Given the description of an element on the screen output the (x, y) to click on. 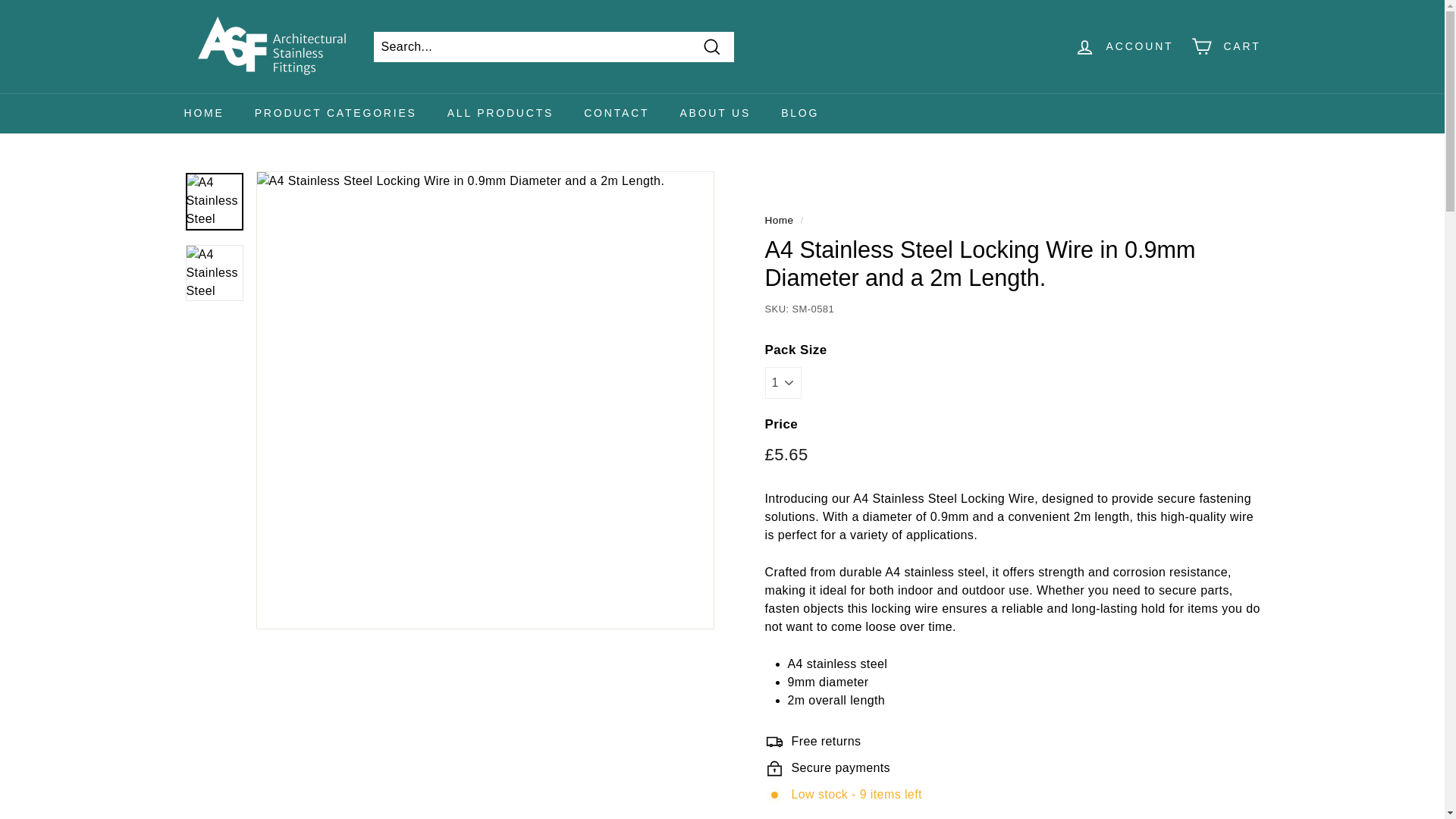
PRODUCT CATEGORIES (336, 113)
Back to the frontpage (778, 220)
ACCOUNT (1123, 46)
HOME (203, 113)
